Given the description of an element on the screen output the (x, y) to click on. 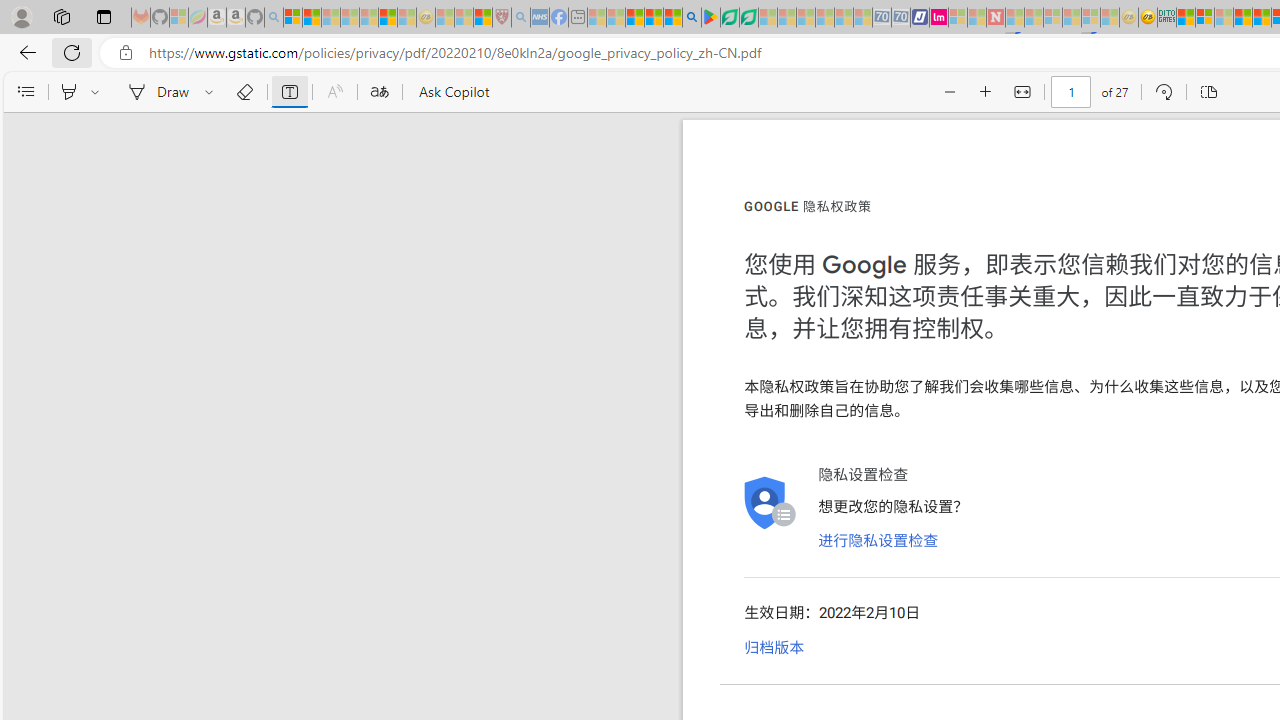
Fit to width (Ctrl+\) (1021, 92)
Pets - MSN (654, 17)
Rotate (Ctrl+]) (1163, 92)
Page view (1208, 92)
